Given the description of an element on the screen output the (x, y) to click on. 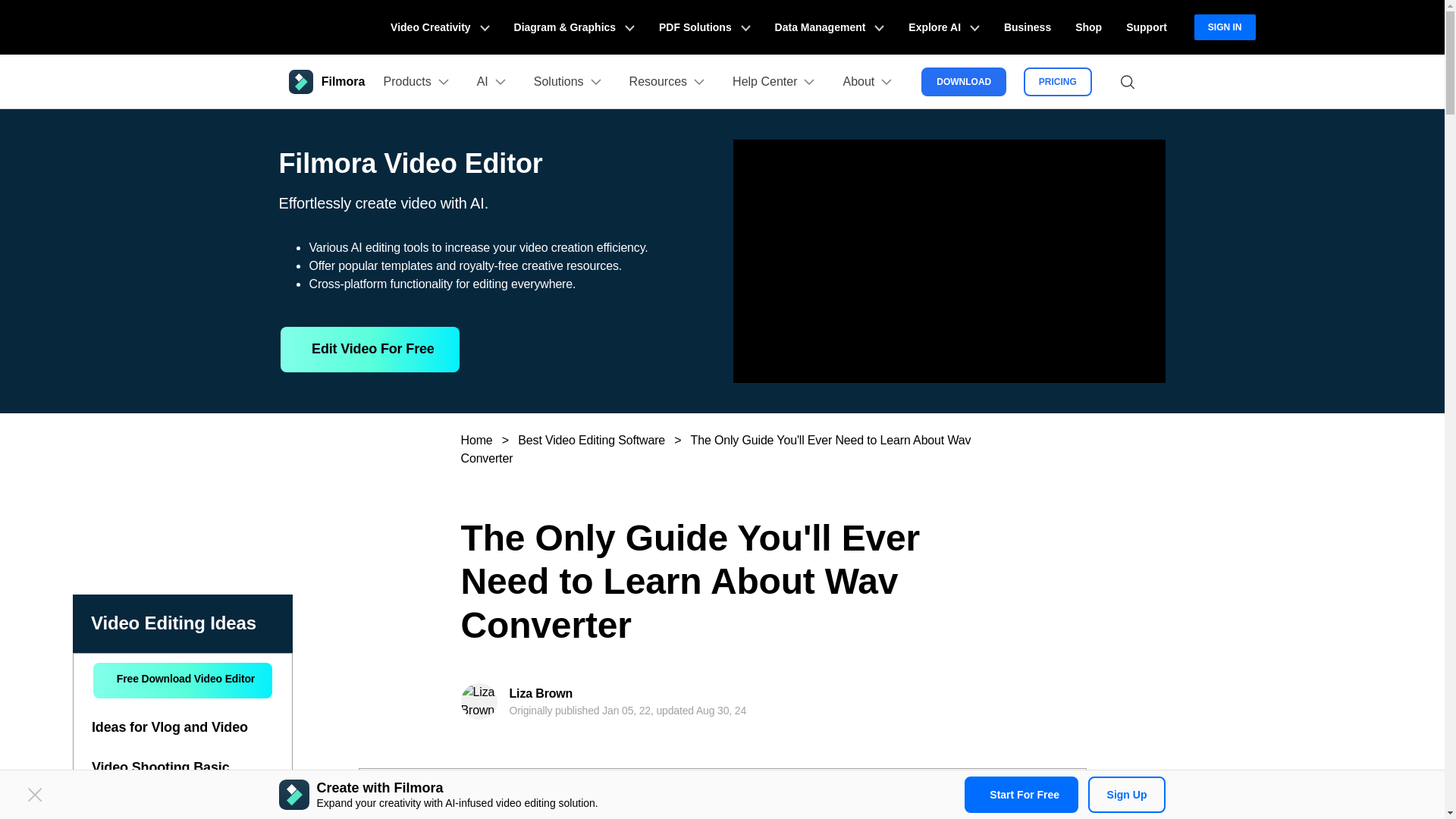
Data Management (829, 27)
Explore AI (943, 27)
PDF Solutions (704, 27)
Video Creativity (439, 27)
